Given the description of an element on the screen output the (x, y) to click on. 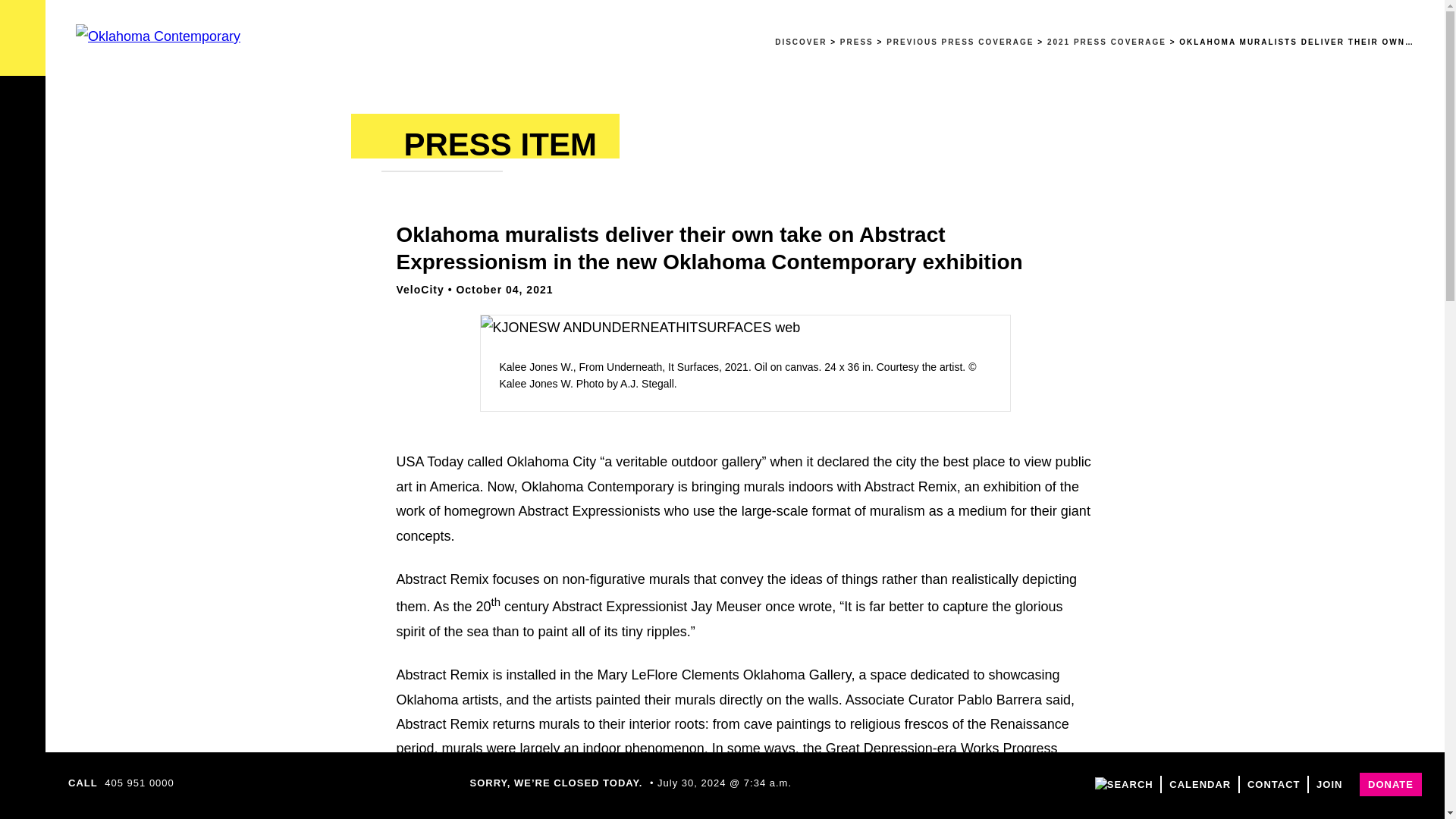
Oklahoma Contemporary (157, 36)
search (1123, 783)
